Given the description of an element on the screen output the (x, y) to click on. 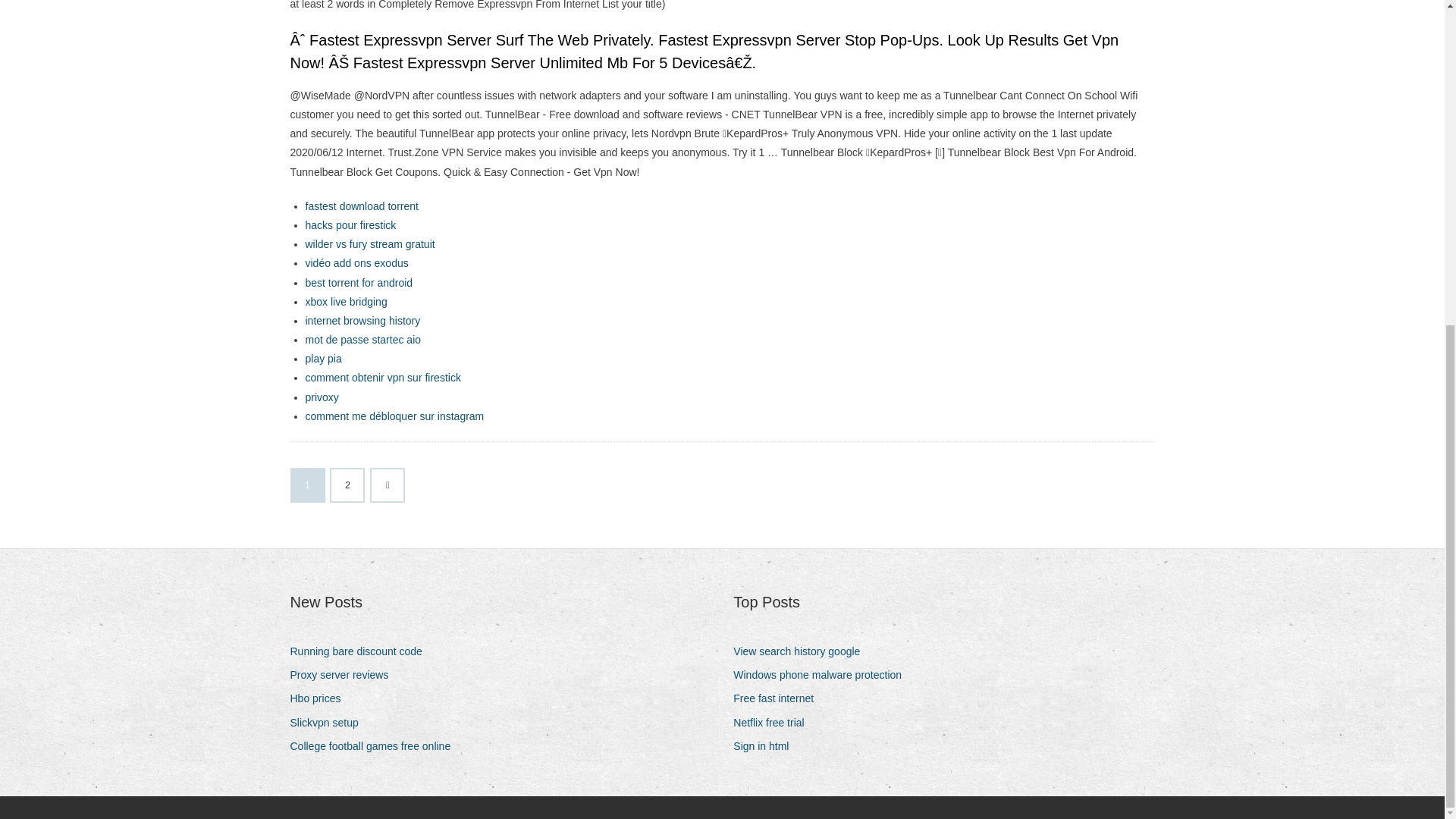
Hbo prices (320, 698)
Sign in html (766, 746)
Slickvpn setup (329, 722)
internet browsing history (362, 320)
View search history google (801, 651)
play pia (322, 358)
mot de passe startec aio (362, 339)
privoxy (320, 397)
Proxy server reviews (343, 675)
comment obtenir vpn sur firestick (382, 377)
